Given the description of an element on the screen output the (x, y) to click on. 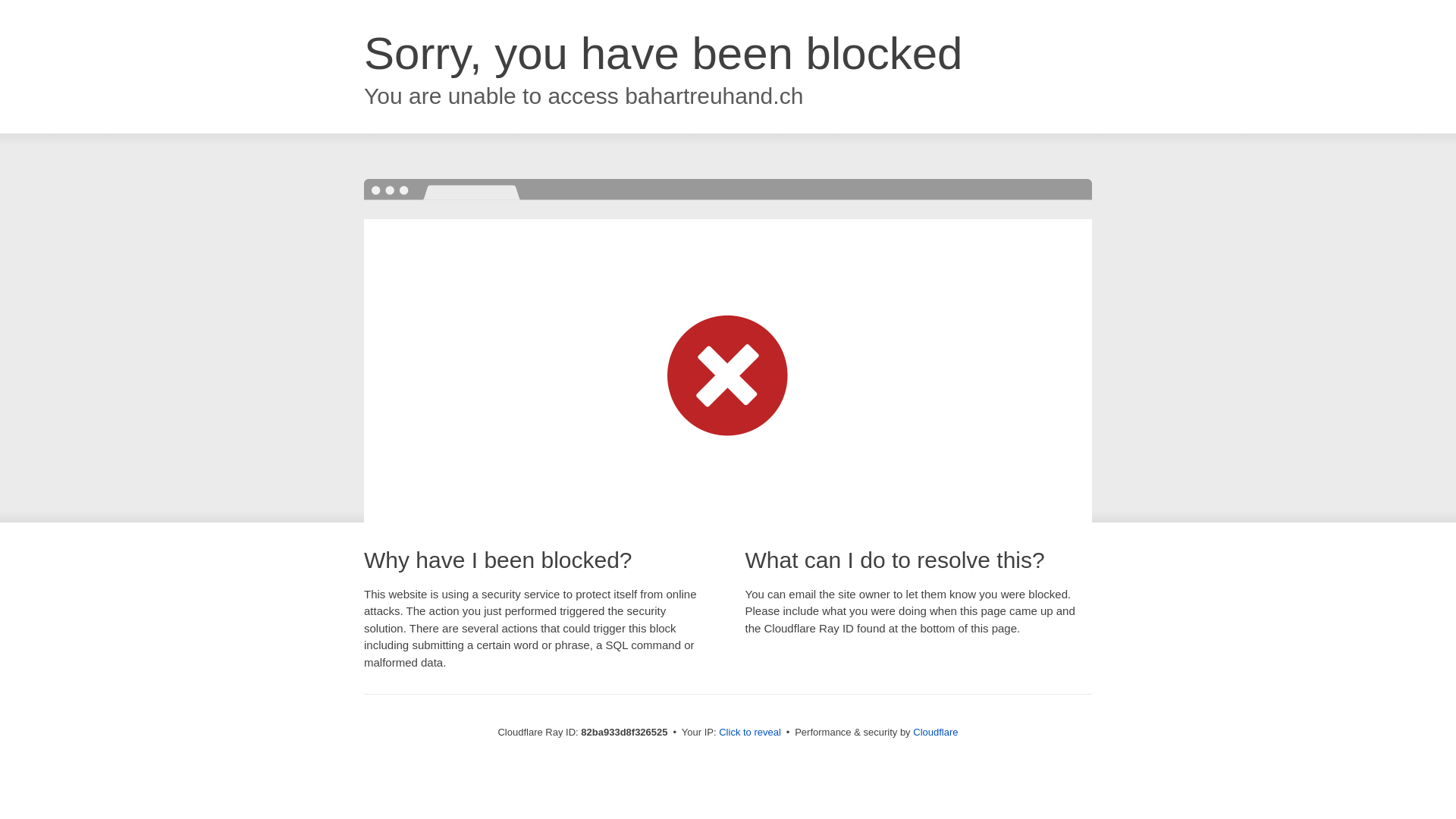
Click to reveal Element type: text (749, 732)
Cloudflare Element type: text (935, 731)
